Given the description of an element on the screen output the (x, y) to click on. 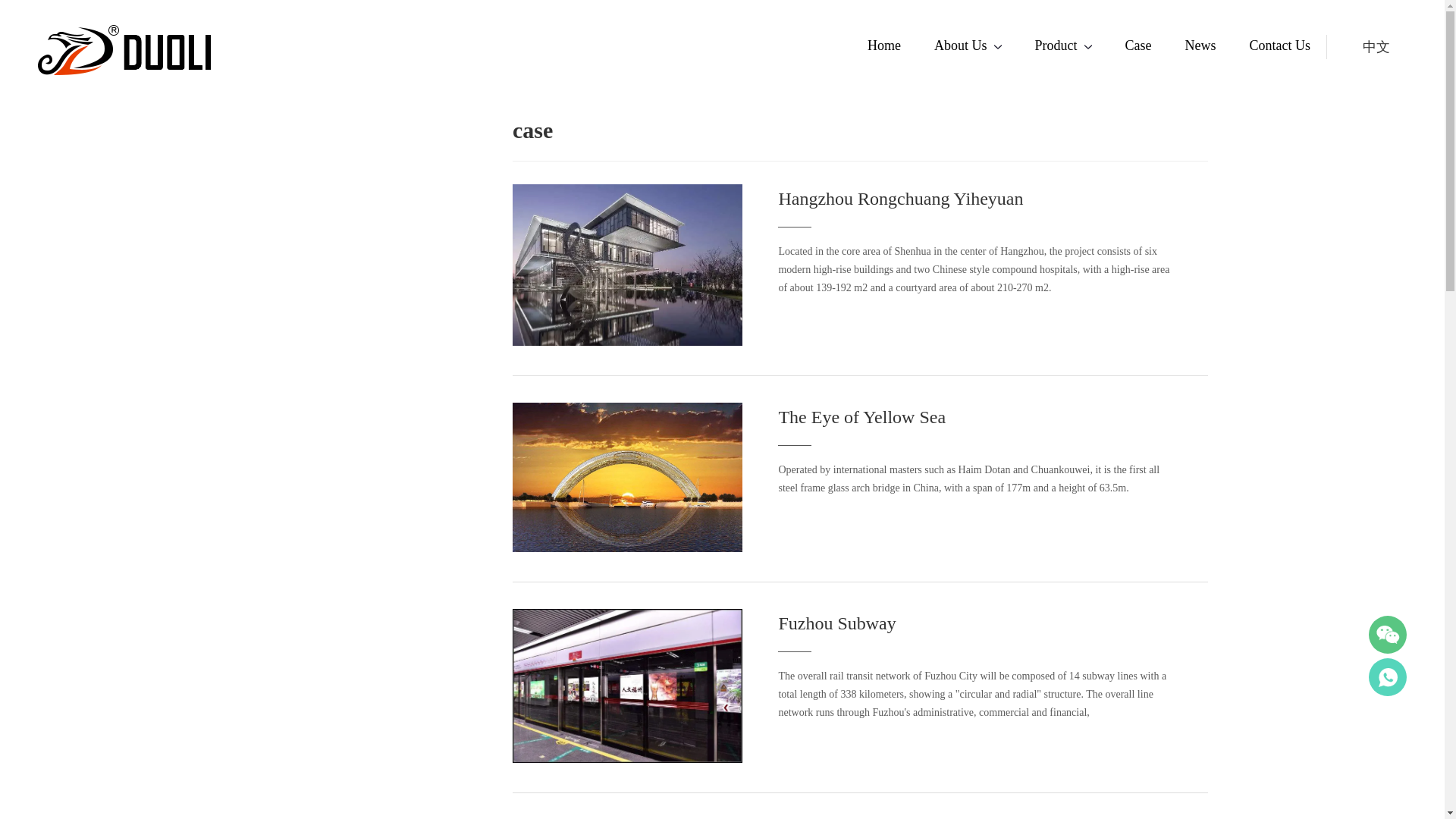
Product (1055, 45)
Contact Us (1280, 45)
About Us (960, 45)
Hangzhou Rongchuang Yiheyuan (627, 264)
The Eye of Yellow Sea (627, 548)
Case (1138, 45)
Product (1055, 45)
Case (1138, 45)
About Us (960, 45)
Home (884, 45)
Hangzhou Rongchuang Yiheyuan (627, 342)
Home (884, 45)
News (1200, 45)
News (1200, 45)
Hangzhou Rongchuang Yiheyuan (900, 198)
